Given the description of an element on the screen output the (x, y) to click on. 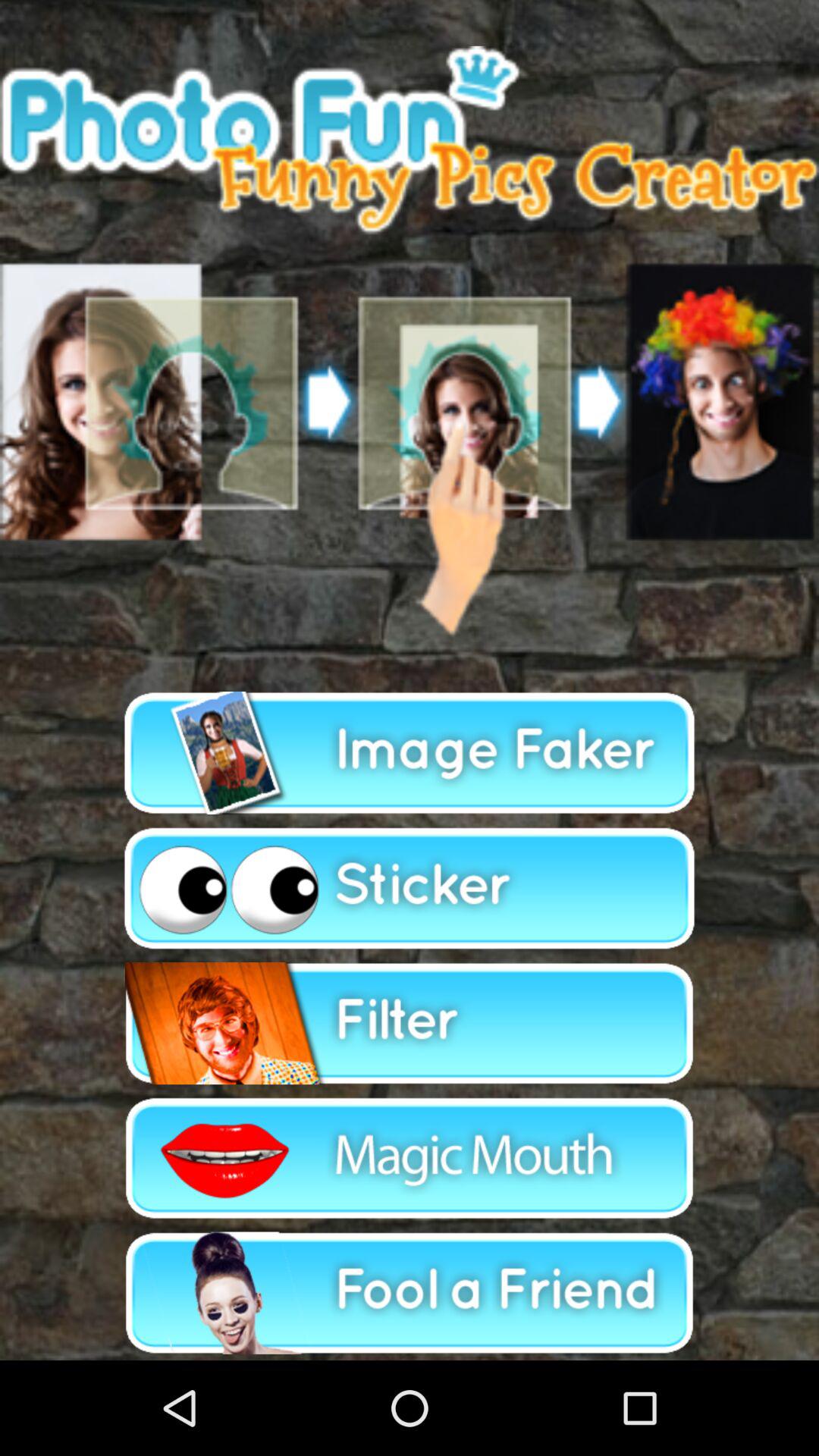
to select magic mouth and process particular option (409, 1158)
